Given the description of an element on the screen output the (x, y) to click on. 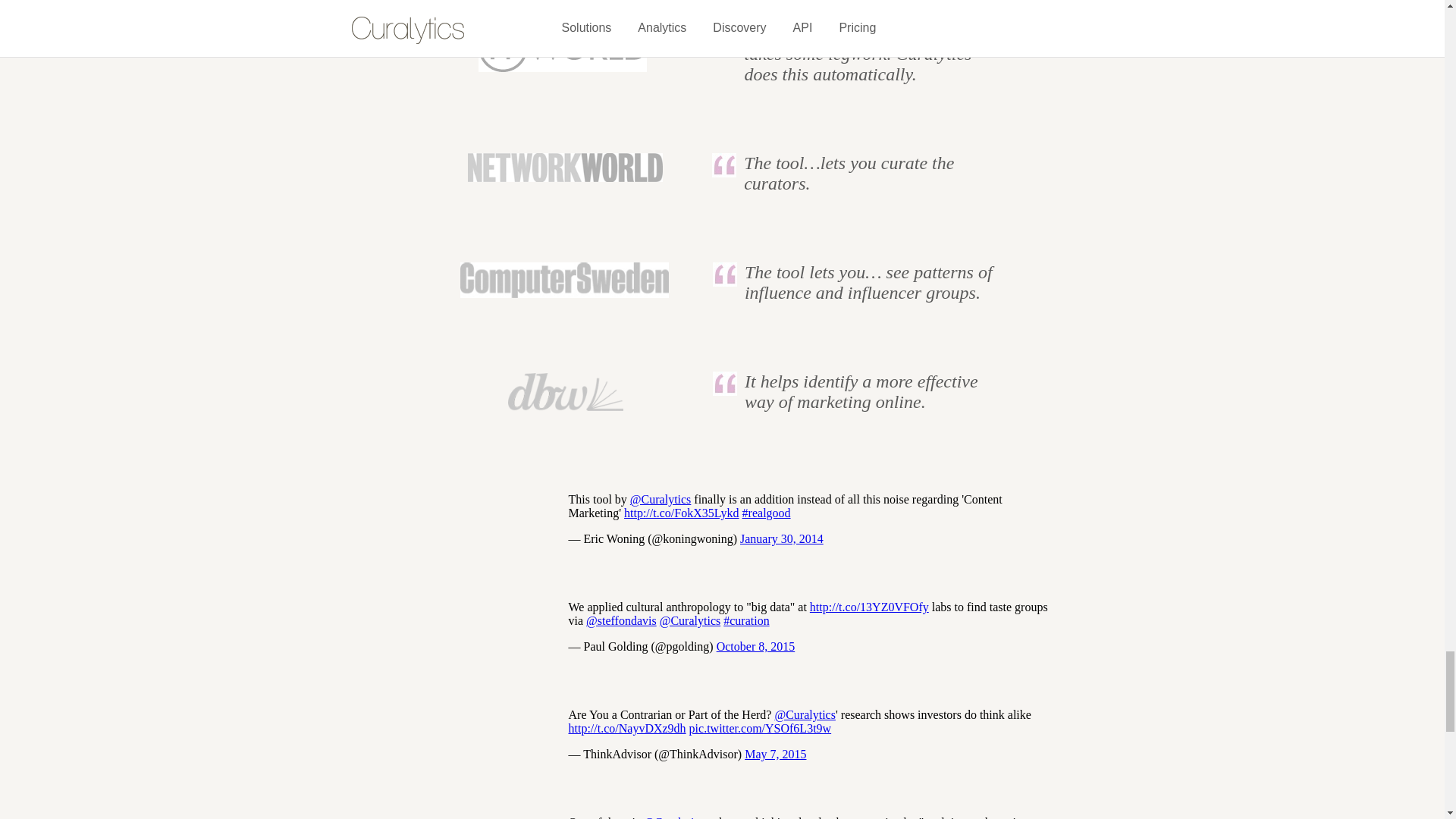
January 30, 2014 (781, 538)
October 8, 2015 (755, 645)
May 7, 2015 (775, 753)
